Given the description of an element on the screen output the (x, y) to click on. 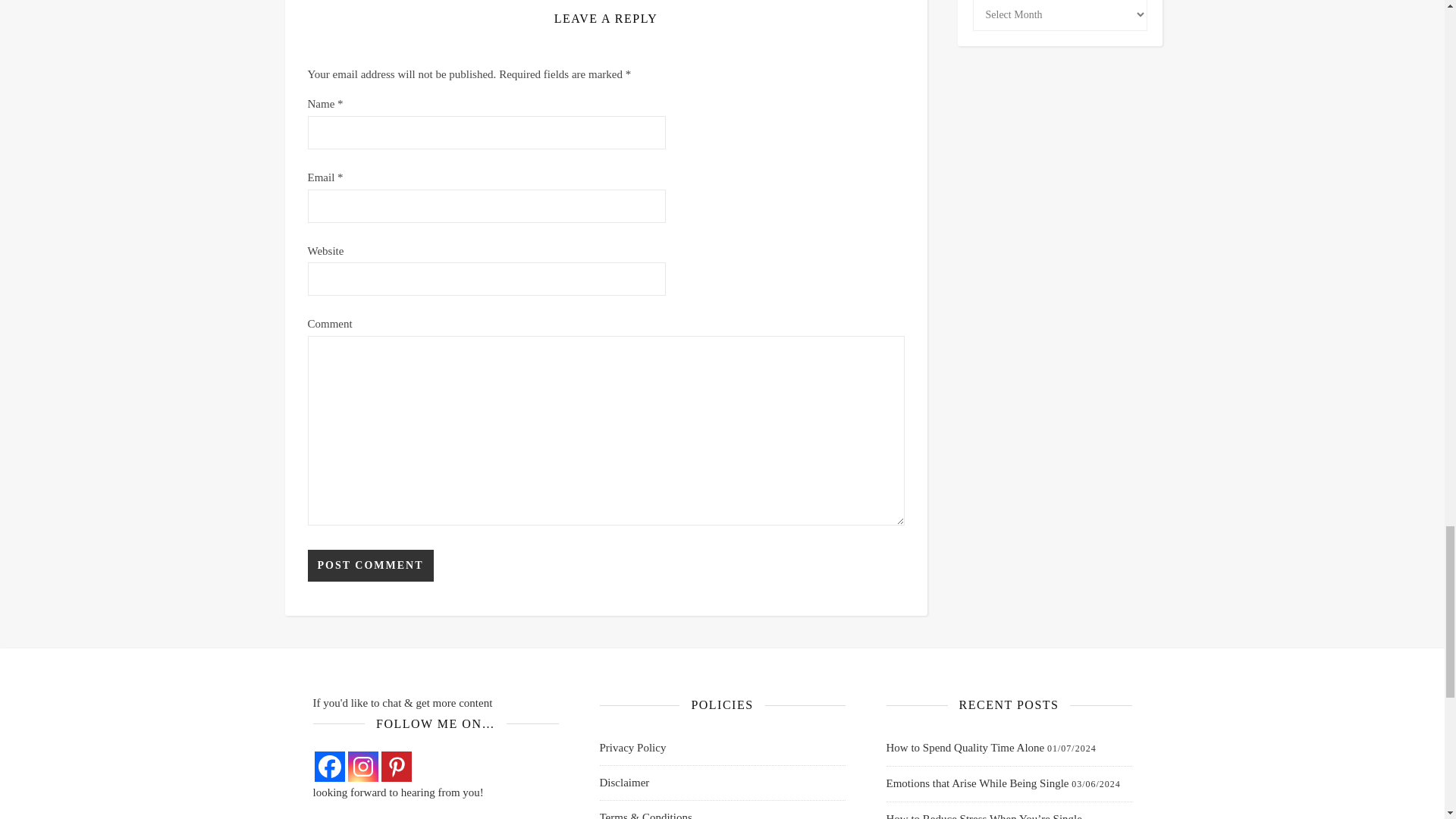
Post Comment (370, 565)
